Given the description of an element on the screen output the (x, y) to click on. 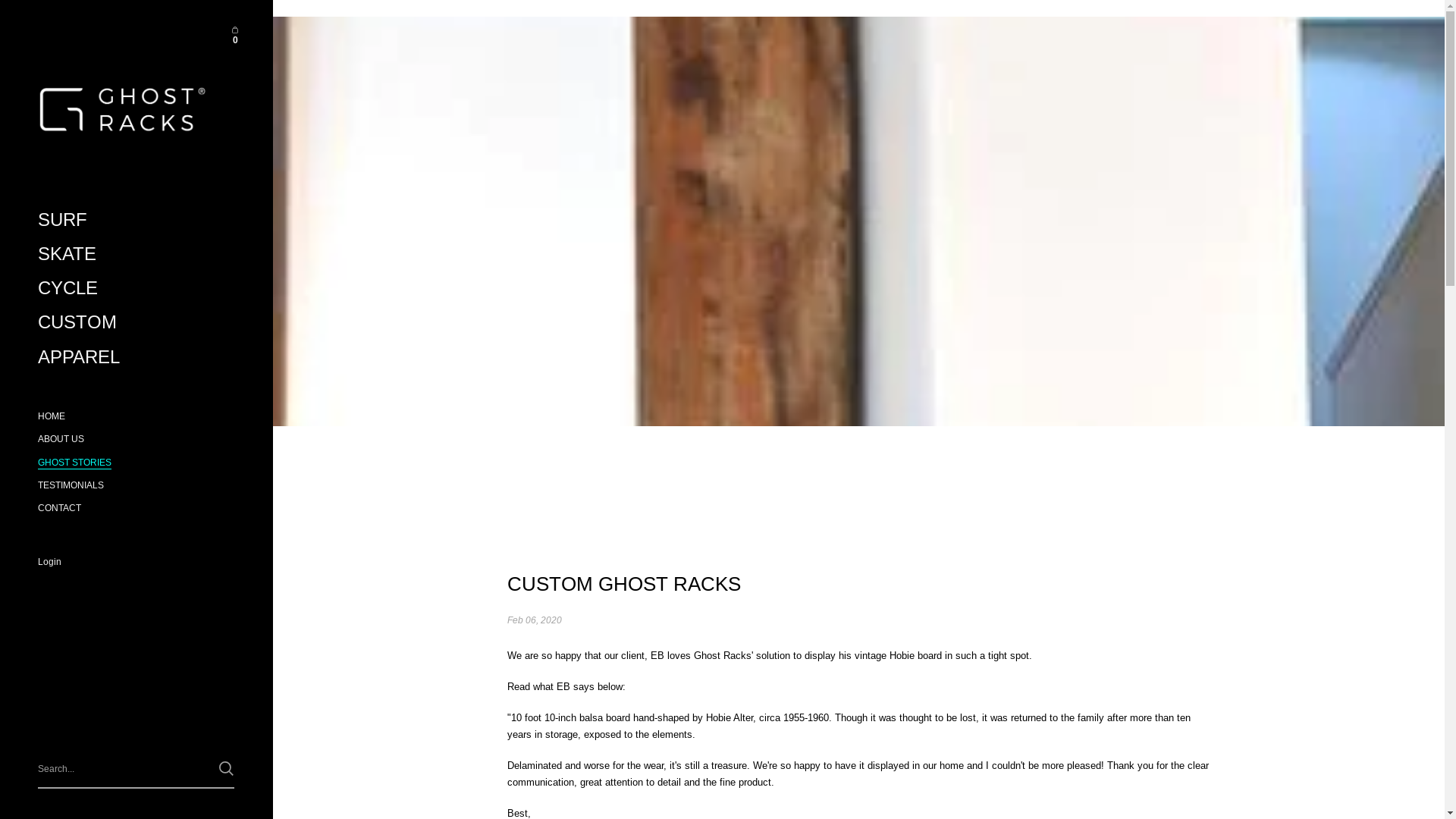
ABOUT US Element type: text (136, 438)
CYCLE Element type: text (136, 288)
CONTACT Element type: text (136, 507)
GHOST STORIES Element type: text (136, 461)
0 Element type: text (235, 36)
HOME Element type: text (136, 415)
CUSTOM Element type: text (136, 322)
Login Element type: text (136, 562)
SKATE Element type: text (136, 254)
SURF Element type: text (136, 220)
APPAREL Element type: text (136, 356)
TESTIMONIALS Element type: text (136, 484)
